Given the description of an element on the screen output the (x, y) to click on. 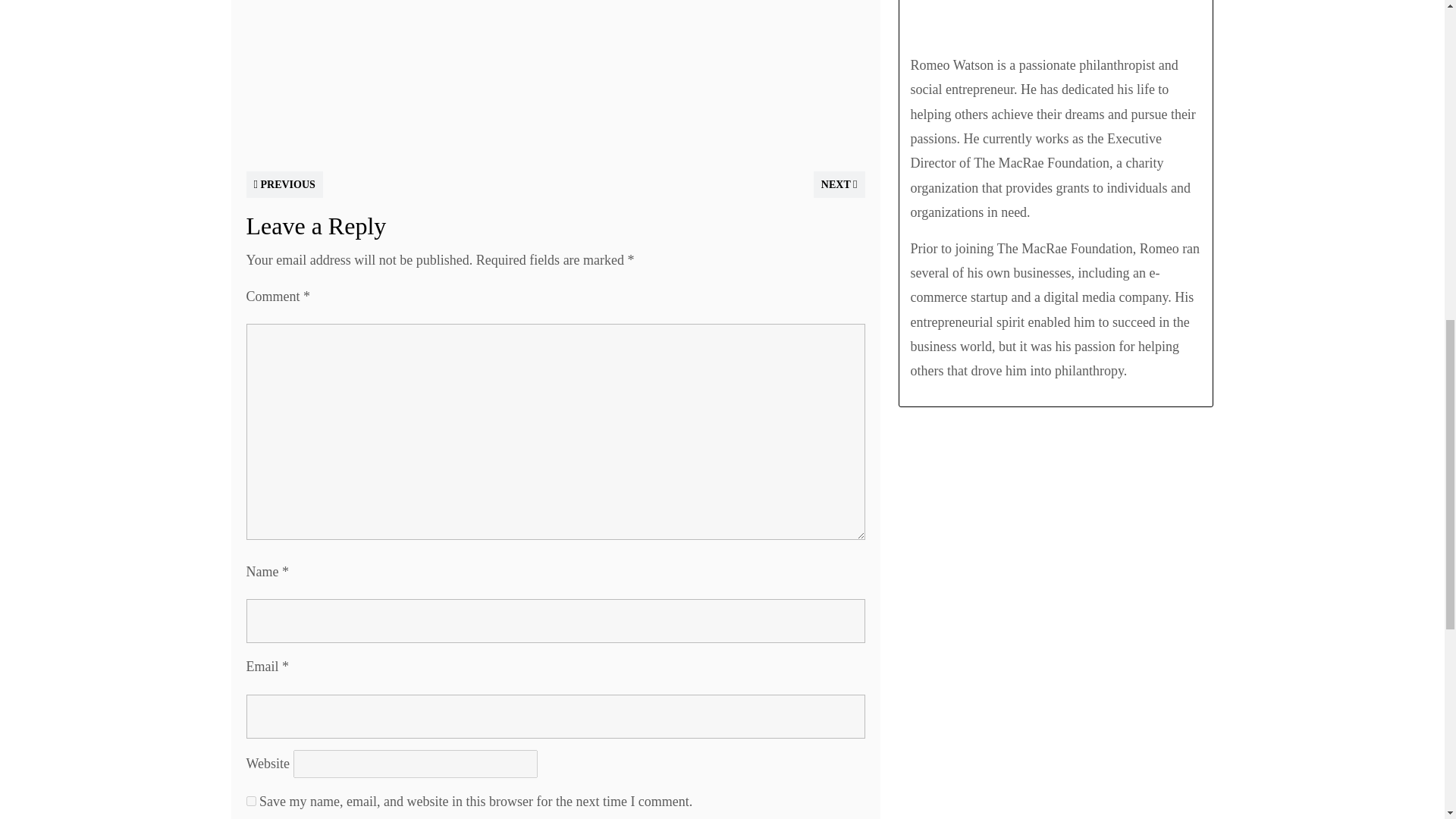
PREVIOUS (283, 184)
NEXT (838, 184)
yes (251, 800)
